Given the description of an element on the screen output the (x, y) to click on. 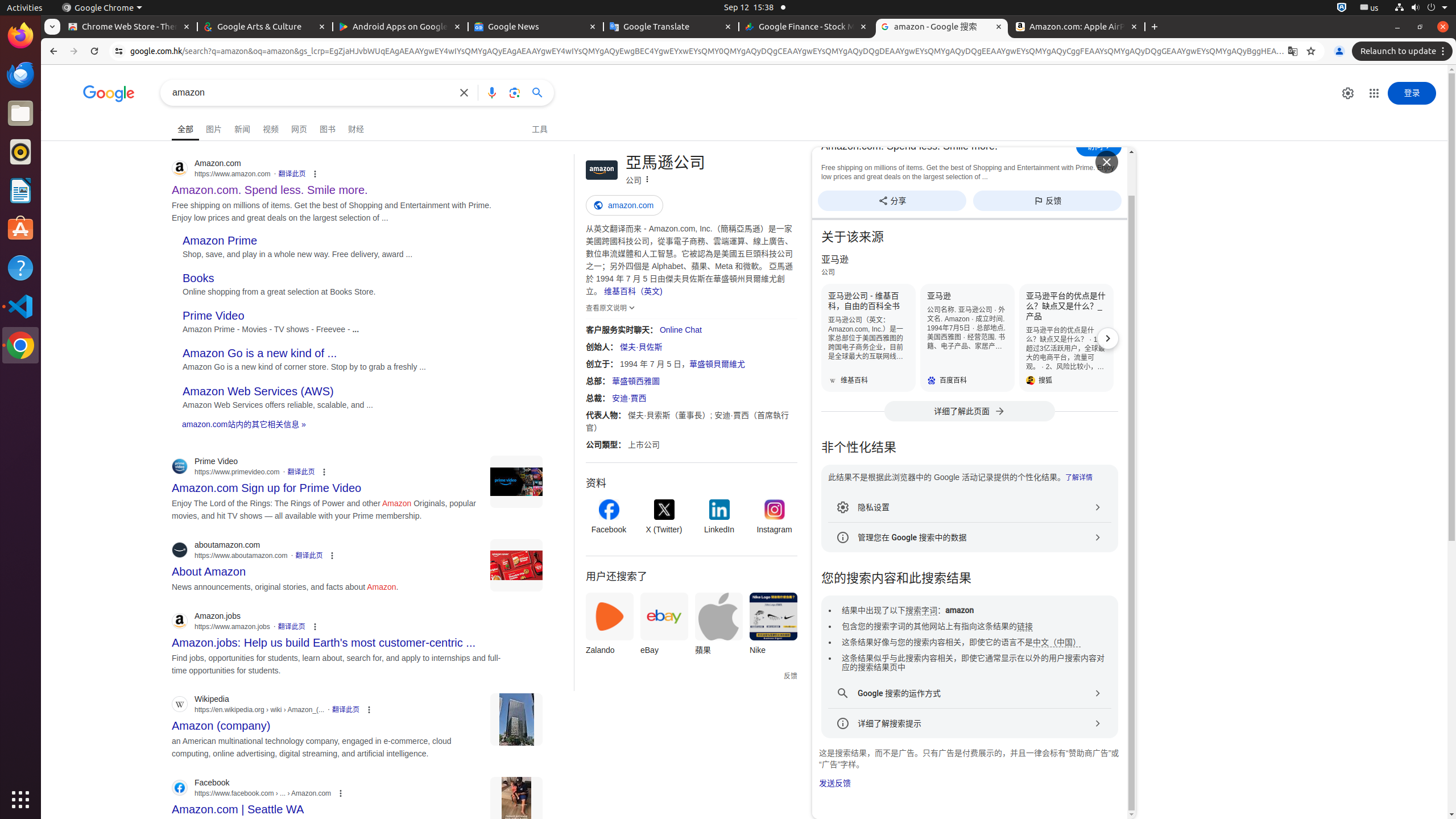
Nike Element type: link (773, 627)
登录 Element type: link (1411, 92)
Google 首页 Element type: link (109, 94)
:1.21/StatusNotifierItem Element type: menu (1369, 7)
清除 Element type: push-button (463, 92)
